Given the description of an element on the screen output the (x, y) to click on. 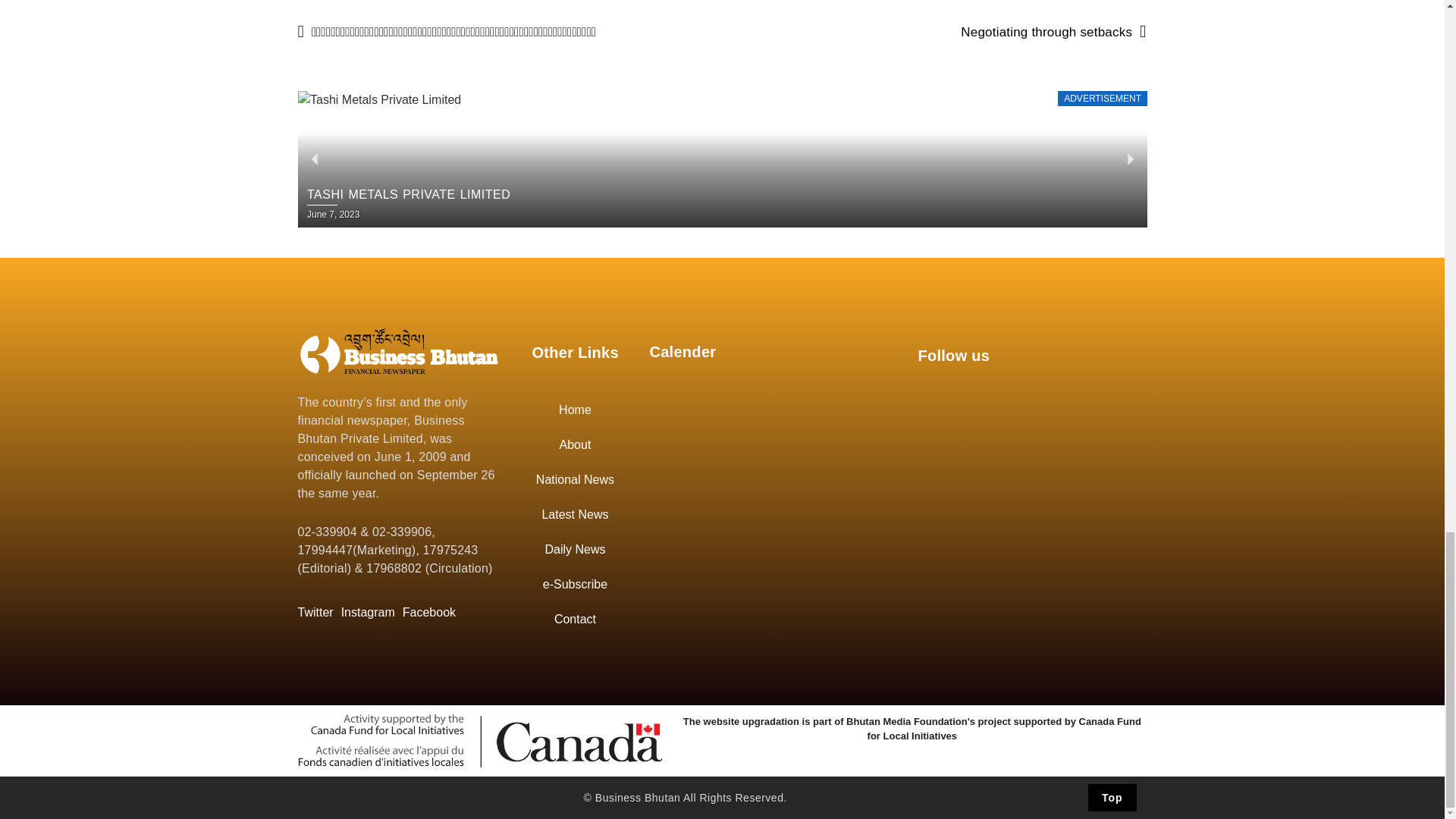
Depreciating Ngultrum costly on the economy (398, 350)
footer-sup (479, 740)
